Given the description of an element on the screen output the (x, y) to click on. 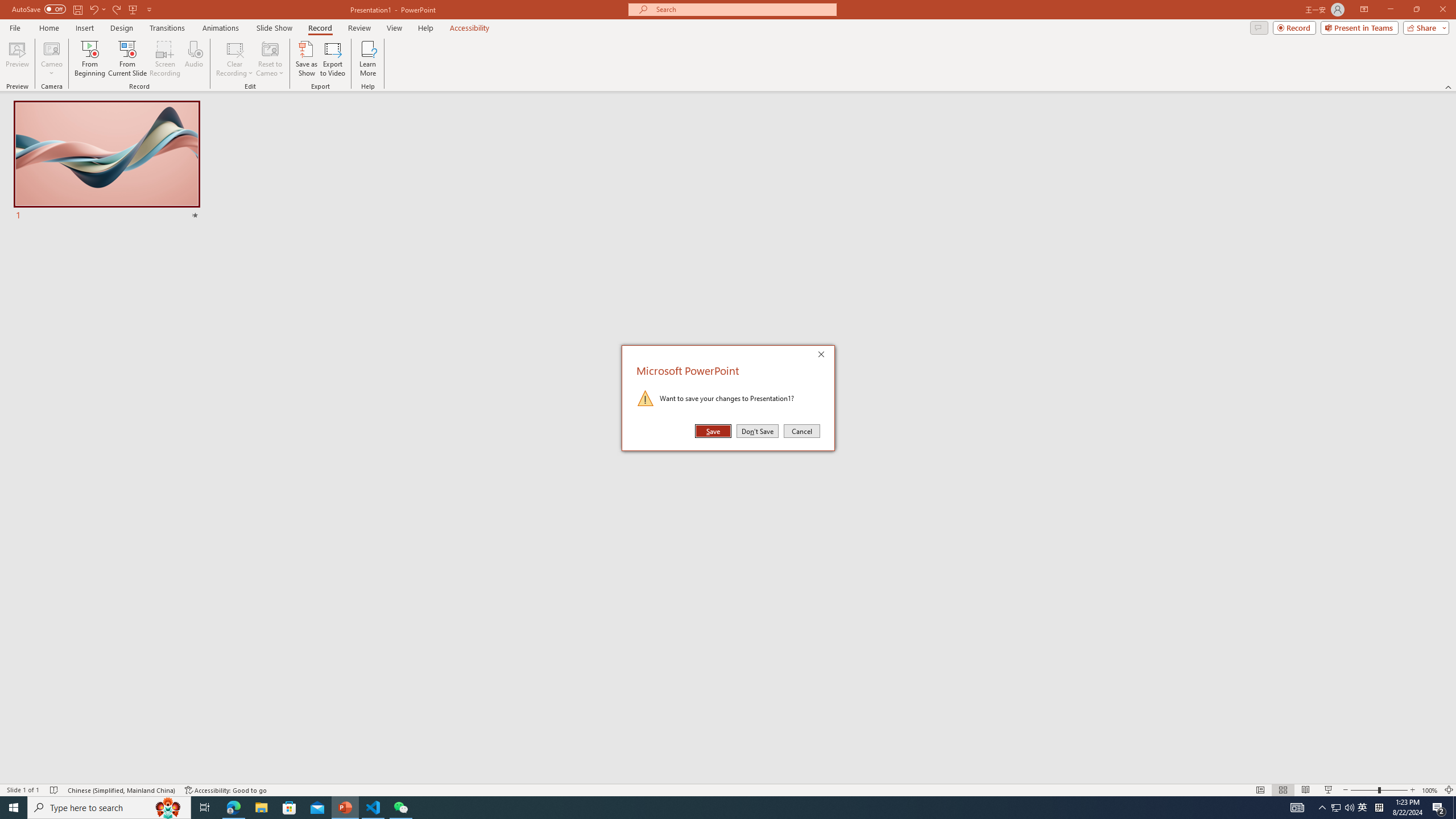
Don't Save (757, 431)
Action Center, 2 new notifications (1439, 807)
